Given the description of an element on the screen output the (x, y) to click on. 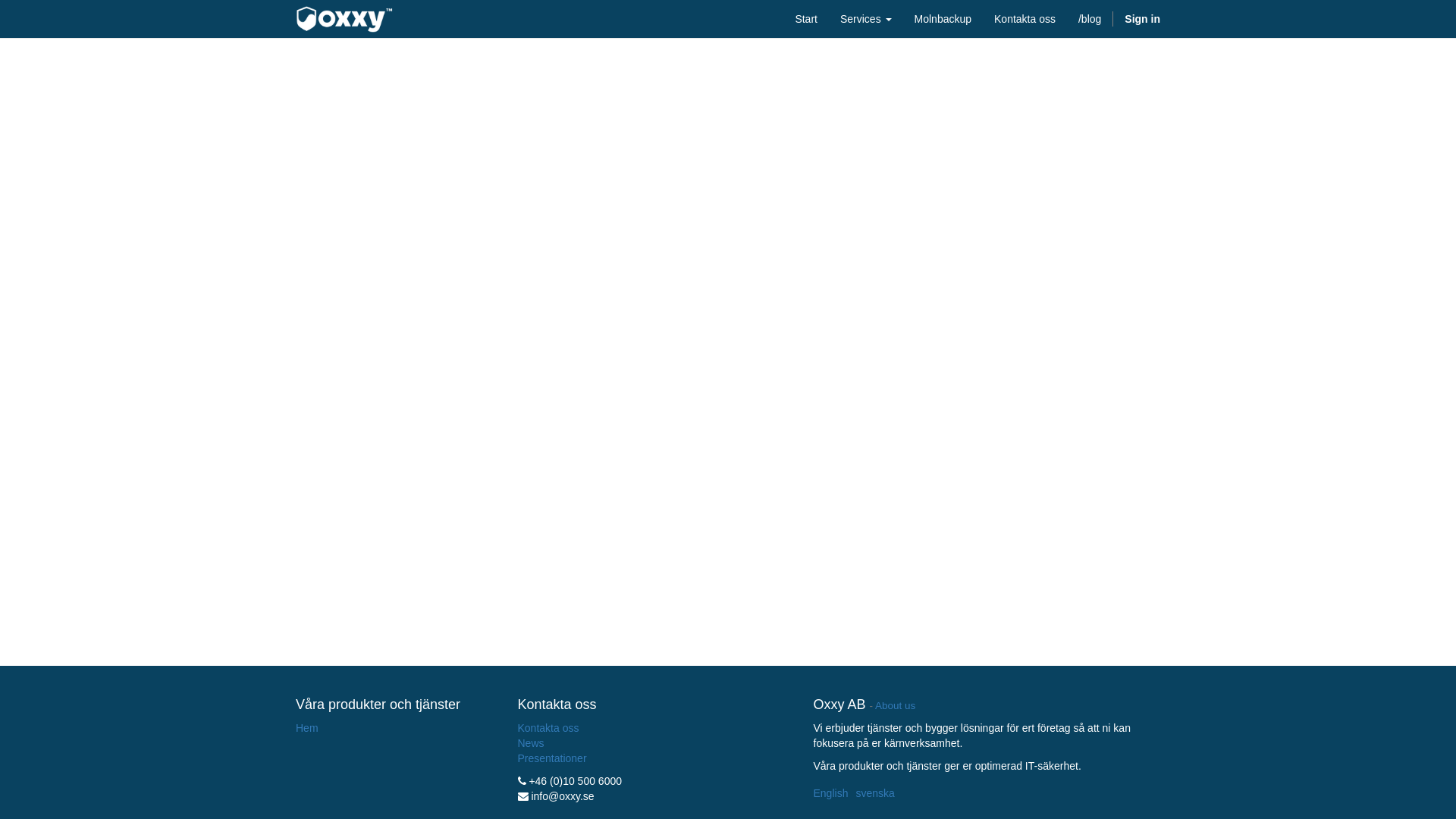
Hem Element type: text (306, 727)
News Element type: text (530, 743)
svenska Element type: text (874, 793)
/blog Element type: text (1089, 18)
Sign in Element type: text (1142, 18)
About us Element type: text (895, 705)
English Element type: text (829, 793)
Services Element type: text (865, 18)
Kontakta oss Element type: text (1024, 18)
Presentationer Element type: text (551, 758)
Kontakta oss Element type: text (547, 727)
Molnbackup Element type: text (943, 18)
Start Element type: text (805, 18)
Oxxy AB Element type: hover (344, 19)
